Given the description of an element on the screen output the (x, y) to click on. 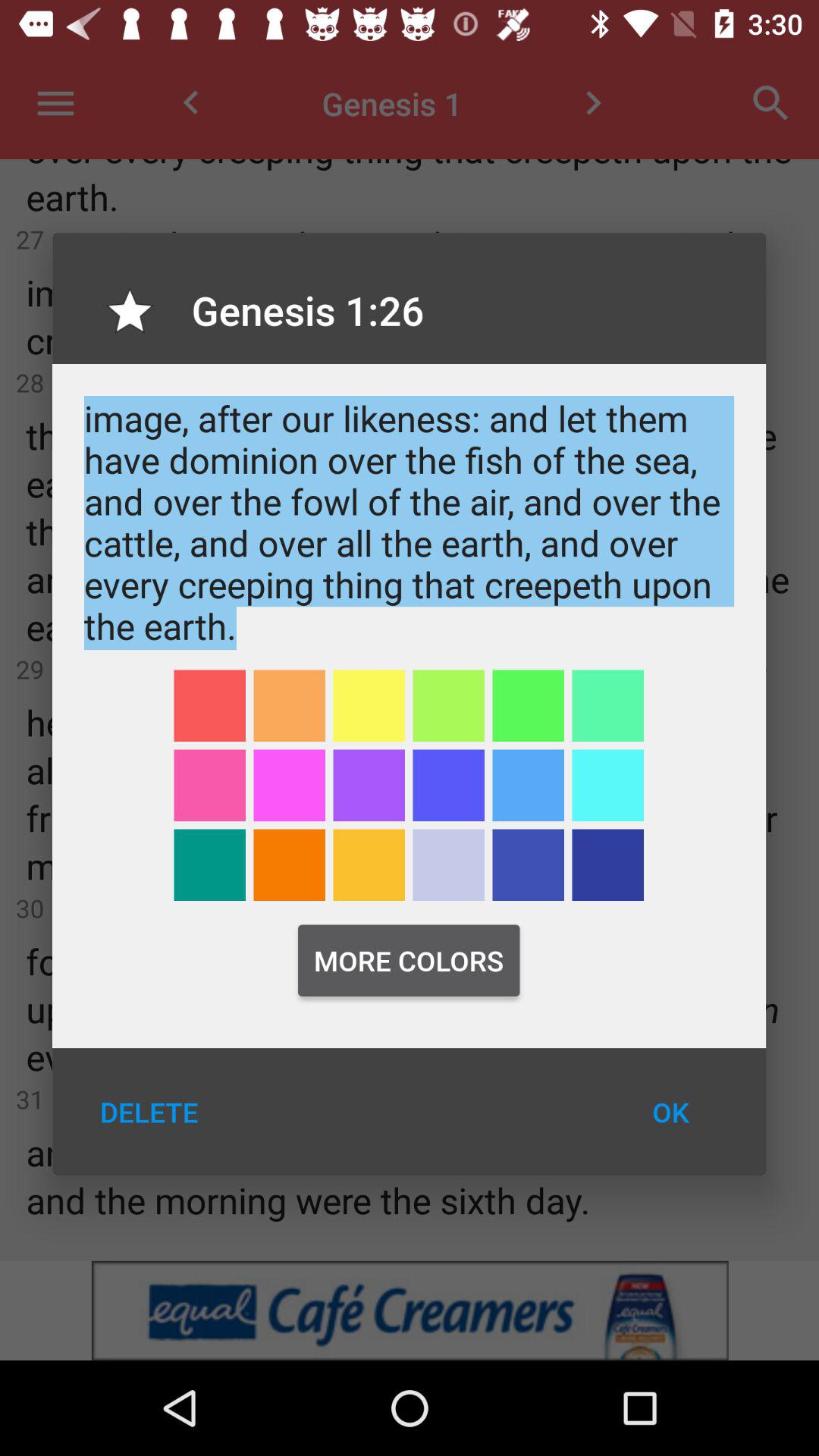
tap the item next to delete icon (670, 1111)
